Given the description of an element on the screen output the (x, y) to click on. 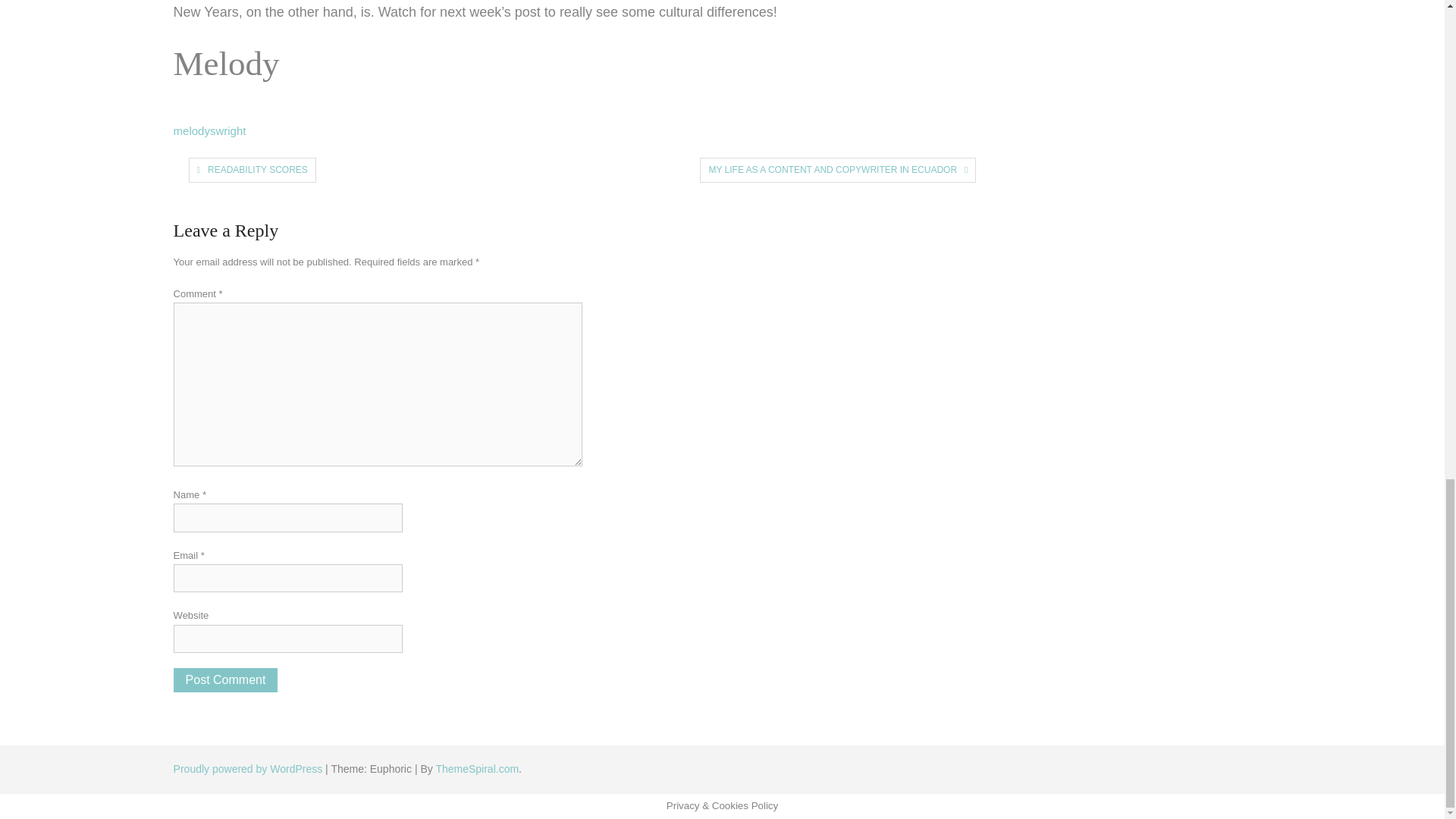
melodyswright (209, 130)
MY LIFE AS A CONTENT AND COPYWRITER IN ECUADOR (831, 169)
READABILITY SCORES (257, 169)
Post Comment (225, 680)
Post Comment (225, 680)
Proudly powered by WordPress (249, 768)
ThemeSpiral.com (476, 768)
